Given the description of an element on the screen output the (x, y) to click on. 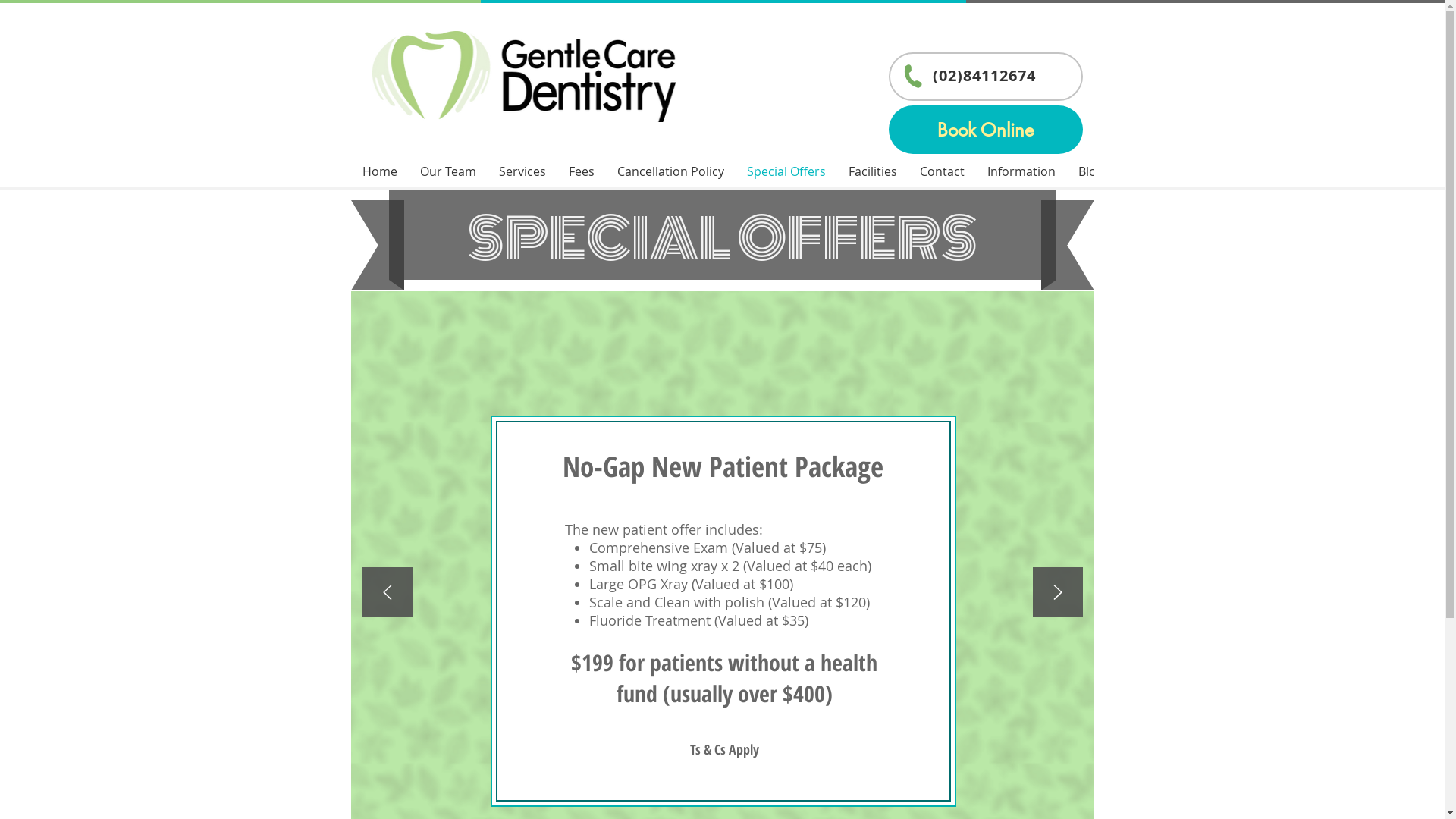
Services Element type: text (521, 172)
(02)84112674 Element type: text (983, 75)
Our Team Element type: text (446, 172)
Home Element type: text (378, 172)
Facilities Element type: text (872, 172)
Special Offers Element type: text (786, 172)
Information Element type: text (1020, 172)
Book Online Element type: text (985, 129)
Blog Element type: text (1089, 172)
Fees Element type: text (580, 172)
Contact Element type: text (941, 172)
Cancellation Policy Element type: text (669, 172)
